Given the description of an element on the screen output the (x, y) to click on. 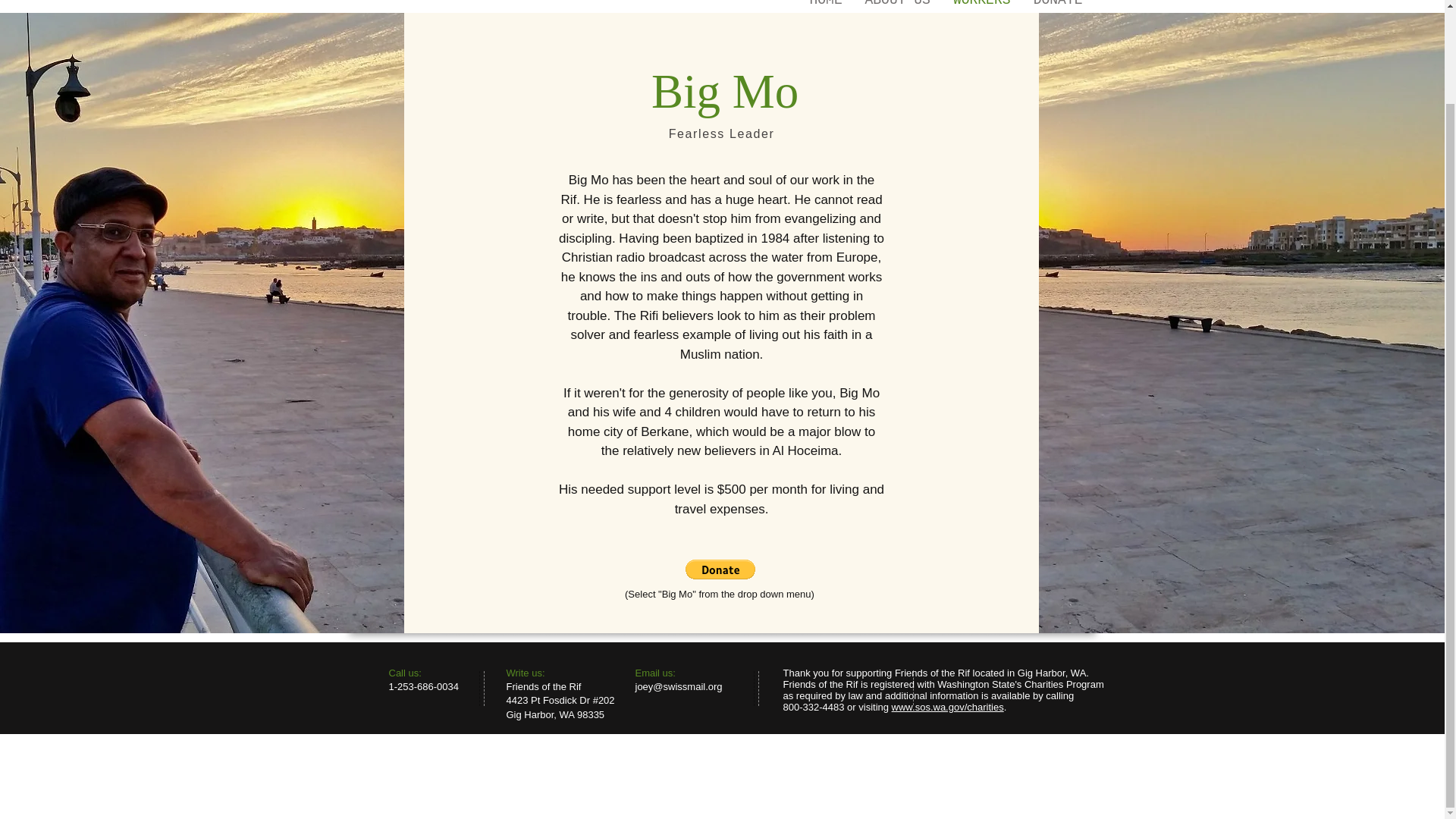
HOME (825, 1)
ABOUT US (897, 1)
WORKERS (982, 1)
DONATE (1058, 1)
